Given the description of an element on the screen output the (x, y) to click on. 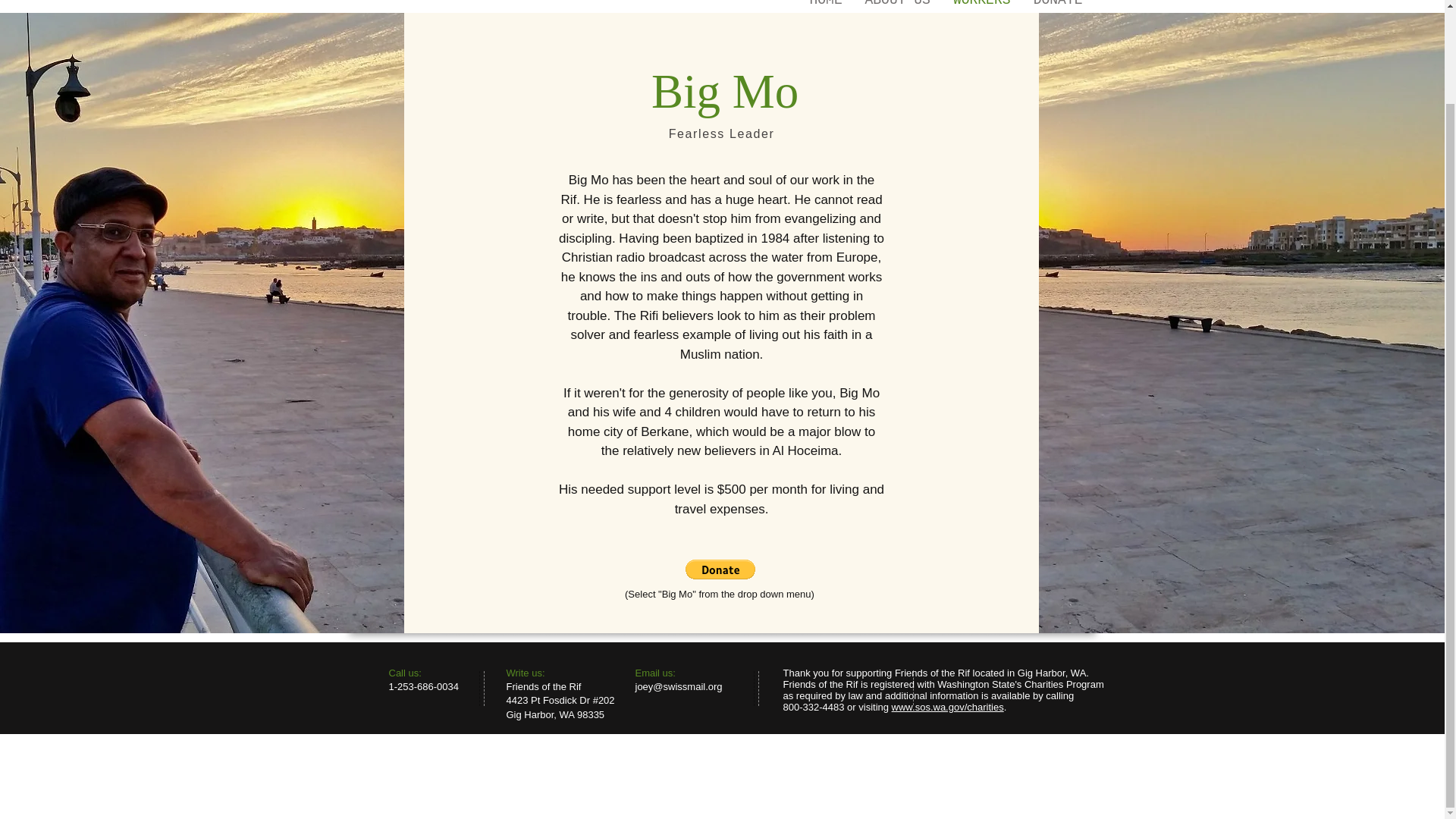
HOME (825, 1)
ABOUT US (897, 1)
WORKERS (982, 1)
DONATE (1058, 1)
